Given the description of an element on the screen output the (x, y) to click on. 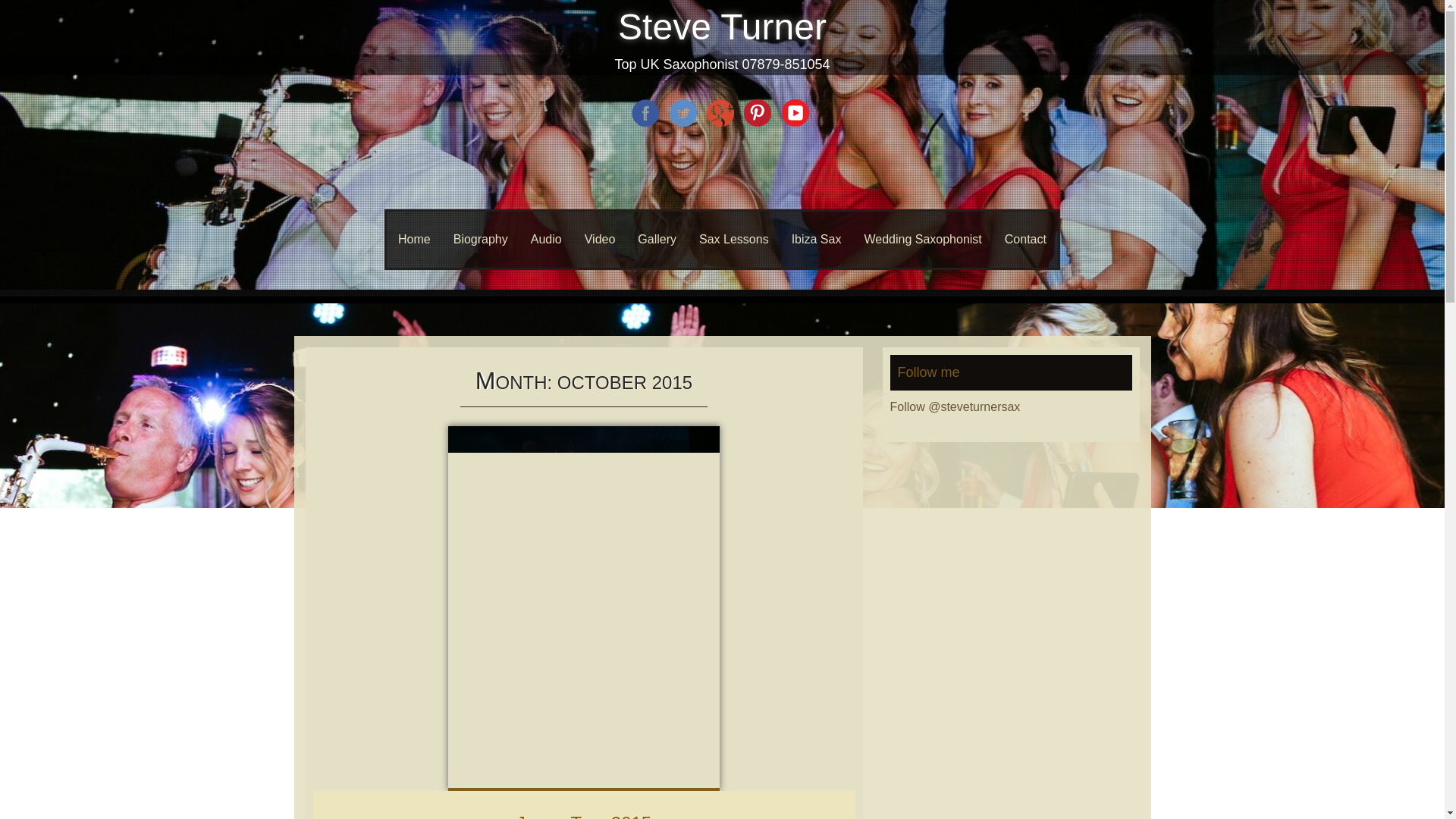
Steve Turner (722, 26)
Pinterest (759, 123)
Video (600, 239)
Saxophone Videos of Steve Turner (600, 239)
Saxophonist Steve Turner (414, 239)
Wedding Saxophonist (921, 239)
YouTube (796, 123)
Top Wedding saxophonist Steve Turner (921, 239)
Sax Lessons (733, 239)
Home (414, 239)
